Given the description of an element on the screen output the (x, y) to click on. 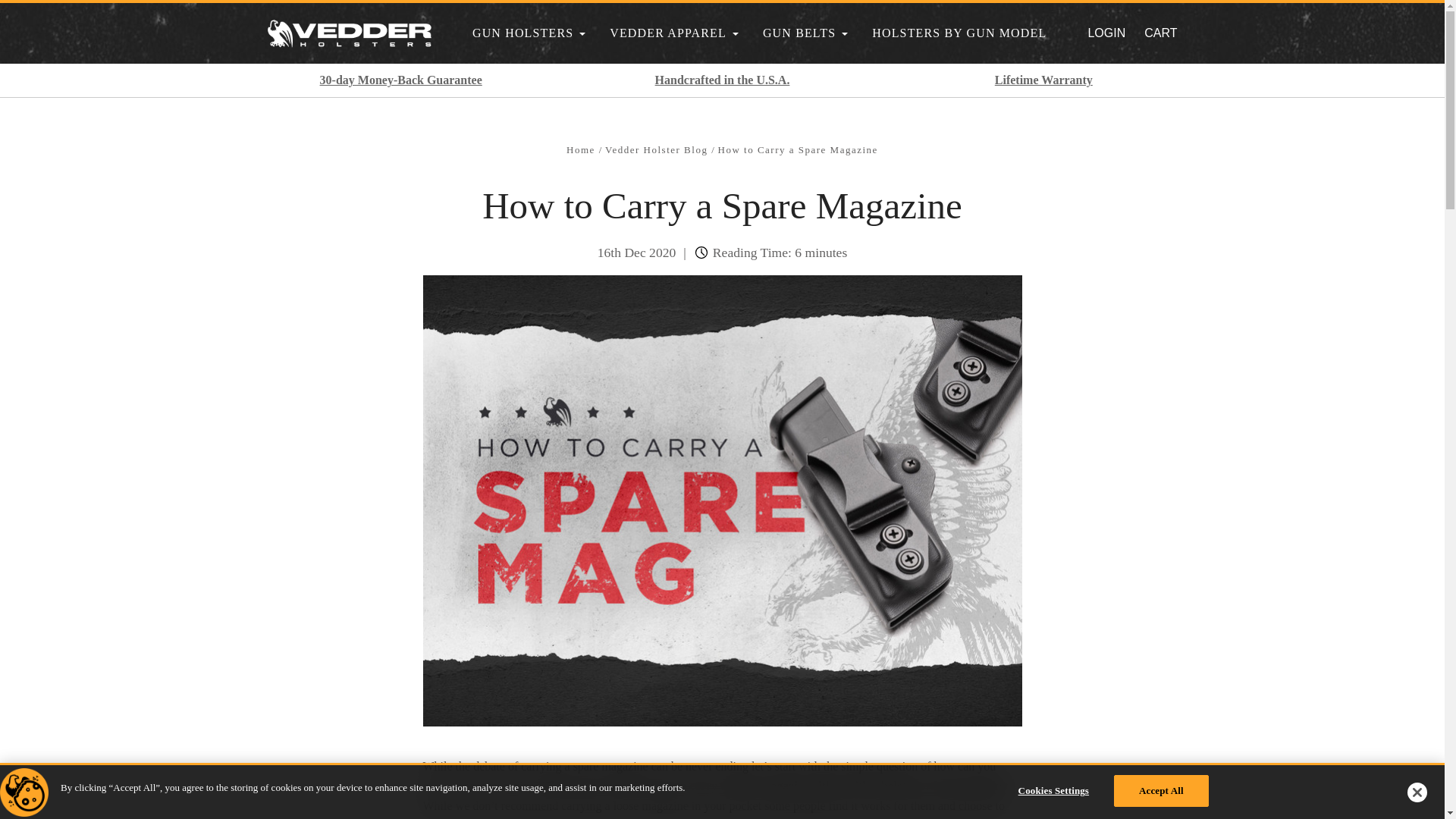
GUN HOLSTERS (529, 33)
HOLSTERS BY GUN MODEL (959, 33)
How to Carry a Spare Magazine (797, 149)
LOGIN (1106, 32)
Home (582, 149)
Company Logo (24, 792)
Vedder Holster Blog (1160, 33)
30-day Money-Back Guarantee (658, 149)
GUN BELTS (400, 79)
VEDDER APPAREL (806, 33)
Lifetime Warranty (674, 33)
Handcrafted in the U.S.A. (1043, 79)
